Given the description of an element on the screen output the (x, y) to click on. 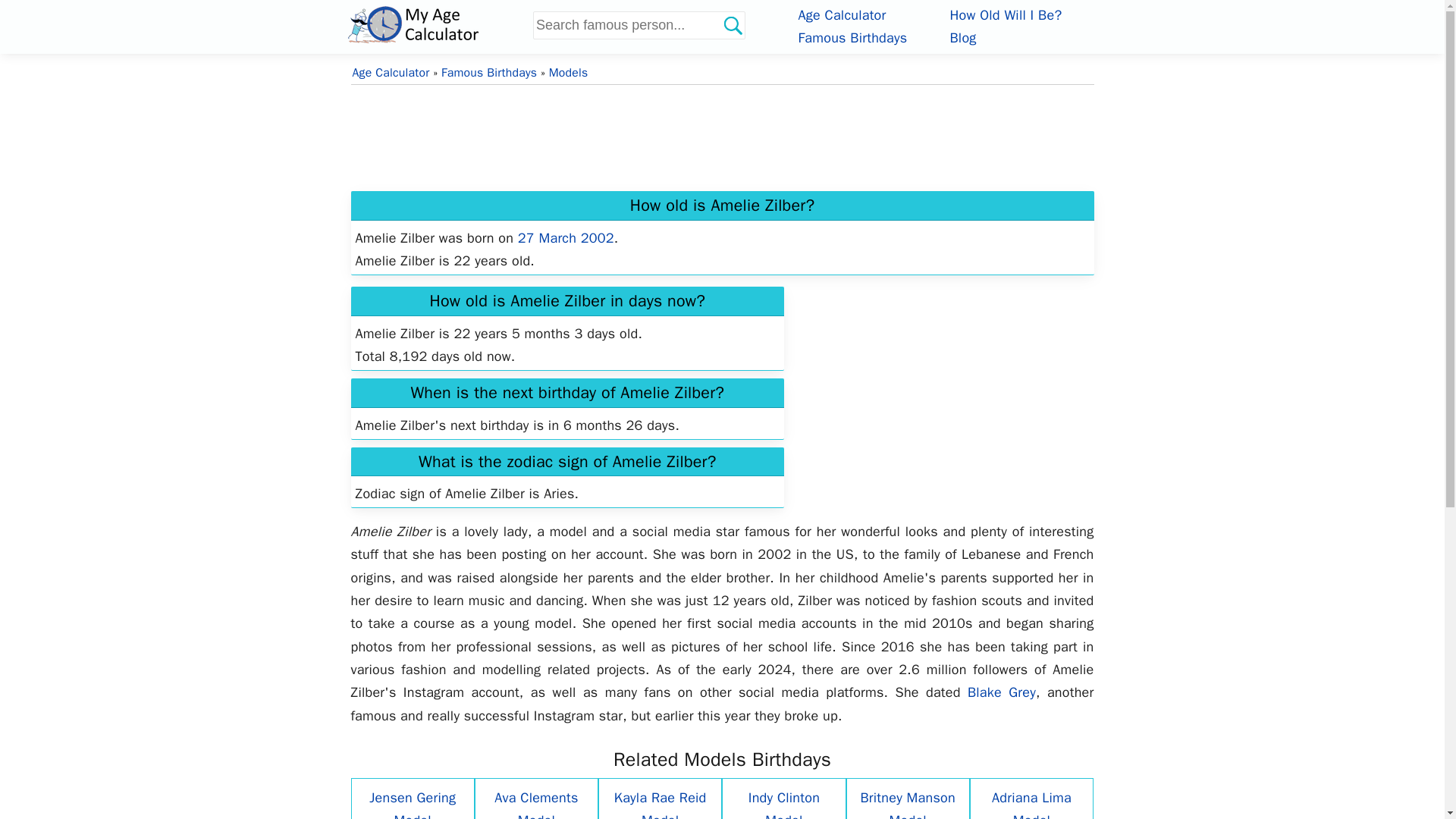
Famous Birthdays (489, 72)
Age Calculator (390, 72)
March 27 Famous Birthdays (566, 238)
Age Calculator (437, 24)
Age Calculator Blog (962, 37)
Blake Grey (1001, 692)
How Old Will I Be In The Future? (1005, 14)
Age Calculator (841, 14)
Famous Birthdays (852, 37)
Models (568, 72)
